Given the description of an element on the screen output the (x, y) to click on. 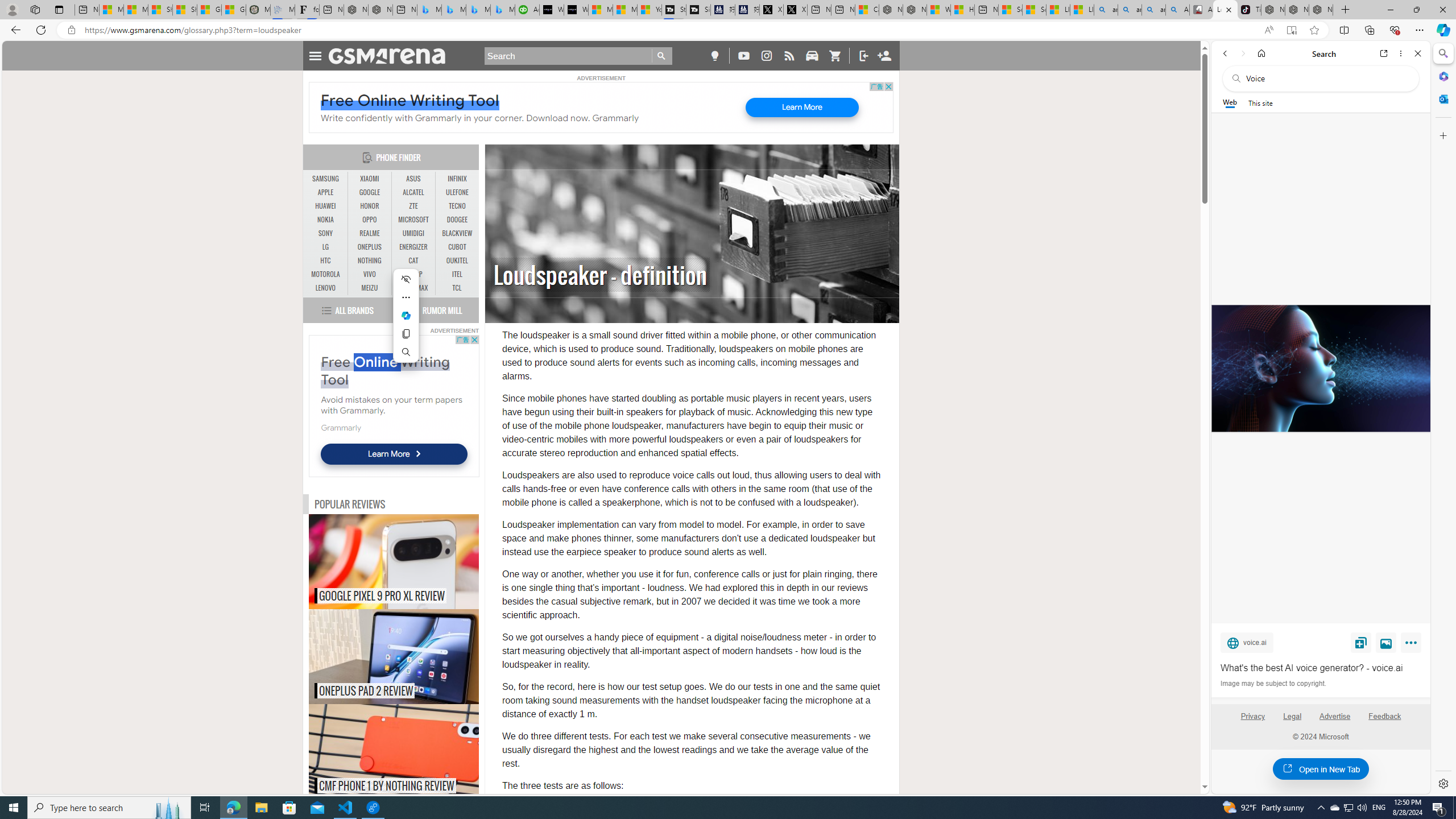
Home (1261, 53)
Grammarly (340, 426)
GOOGLE (369, 192)
TECNO (457, 206)
Image may be subject to copyright. (1273, 682)
ULEFONE (457, 192)
ASUS (413, 178)
Microsoft Start (625, 9)
Manatee Mortality Statistics | FWC (258, 9)
Amazon Echo Robot - Search Images (1176, 9)
Mini menu on text selection (406, 314)
Toggle Navigation (314, 53)
ULEFONE (457, 192)
